Given the description of an element on the screen output the (x, y) to click on. 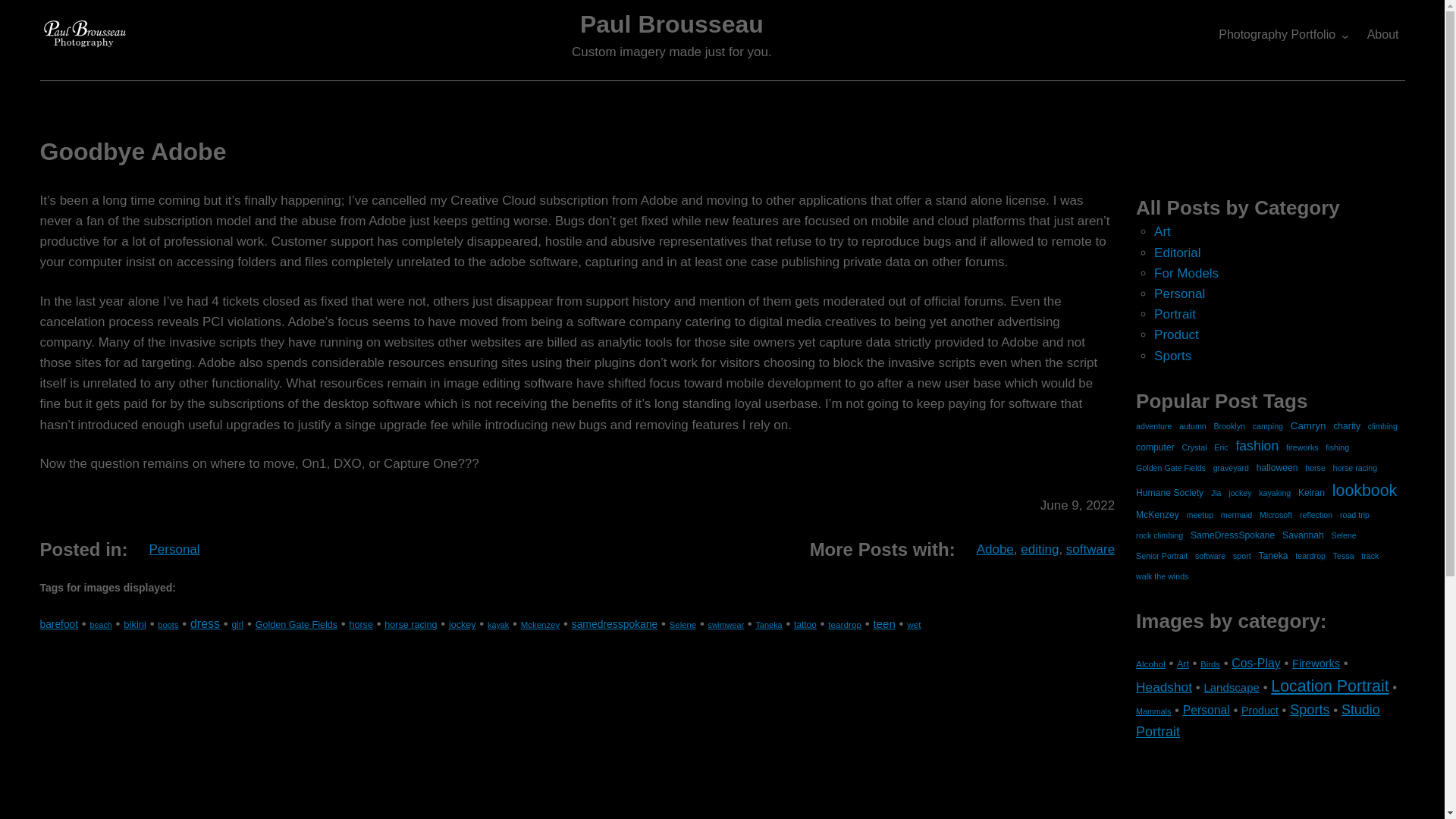
teardrop (844, 624)
horse racing (410, 624)
jockey (462, 624)
28 items (237, 624)
41 items (135, 624)
104 items (204, 623)
19 items (725, 624)
Art (1162, 231)
Product (1176, 334)
For Models (1186, 273)
Golden Gate Fields (296, 624)
20 items (497, 624)
barefoot (58, 624)
About (1383, 34)
wet (913, 624)
